Given the description of an element on the screen output the (x, y) to click on. 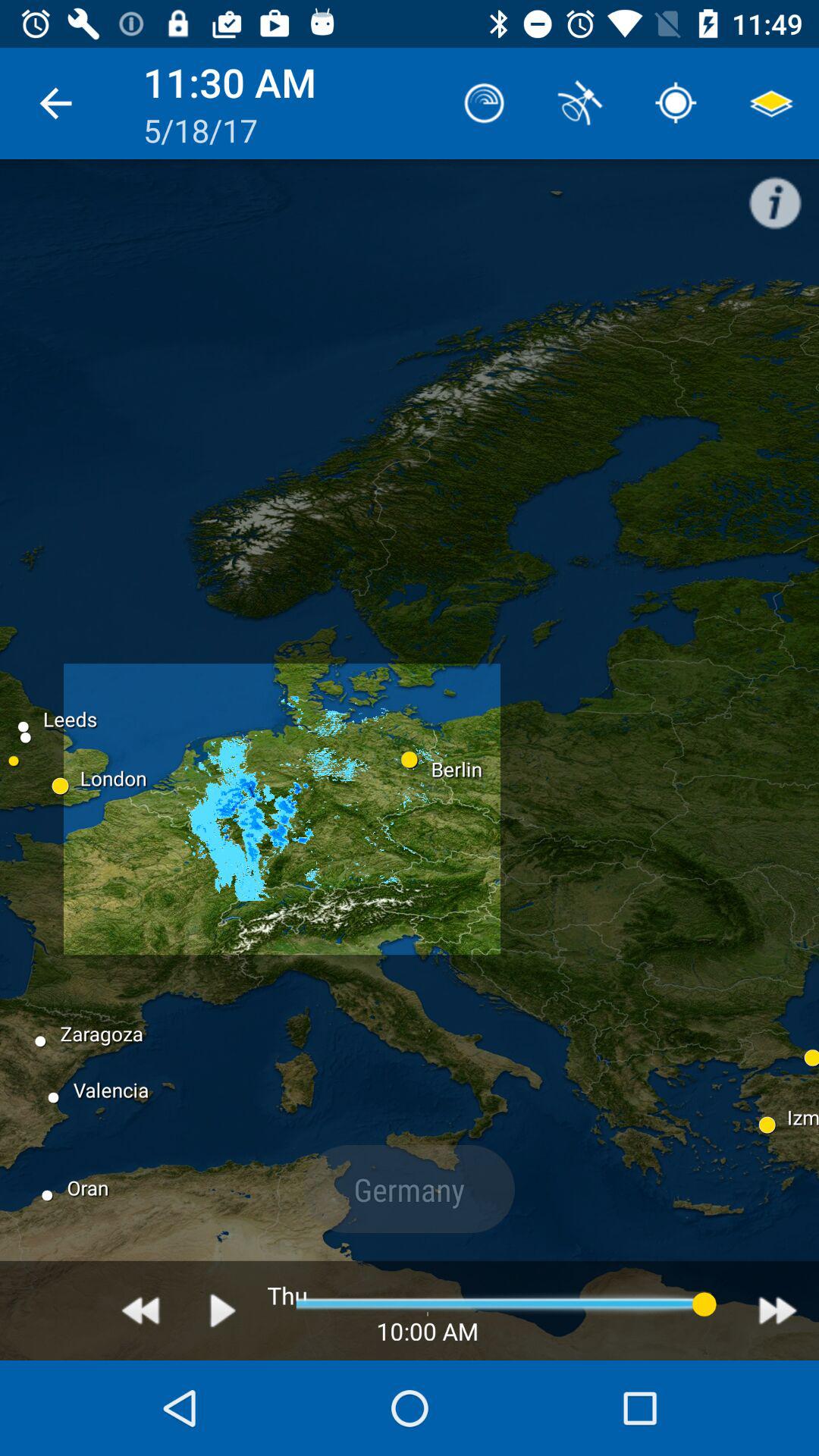
press item to the left of 11:30 am icon (55, 103)
